Given the description of an element on the screen output the (x, y) to click on. 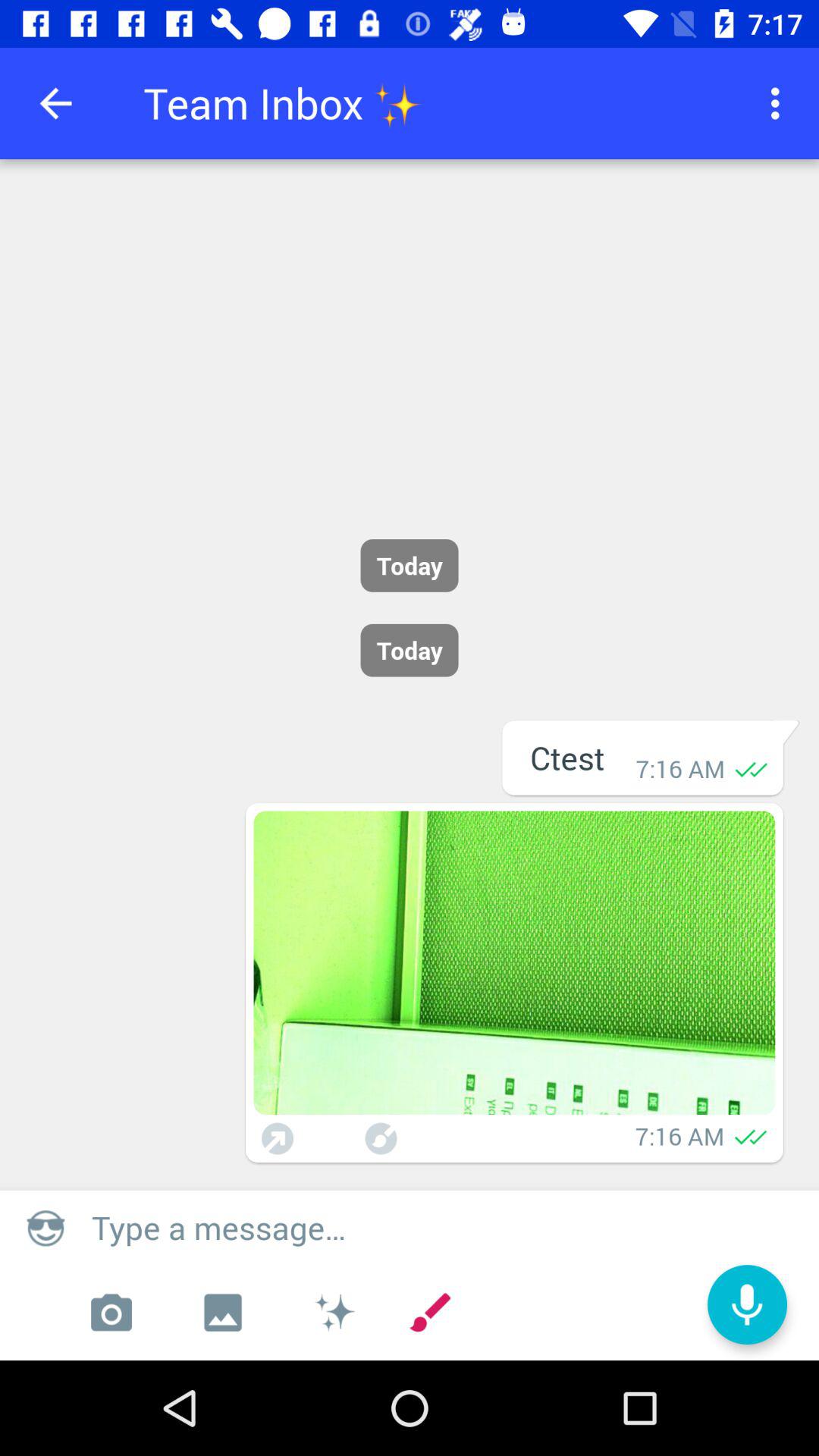
paint tools option (334, 1312)
